Given the description of an element on the screen output the (x, y) to click on. 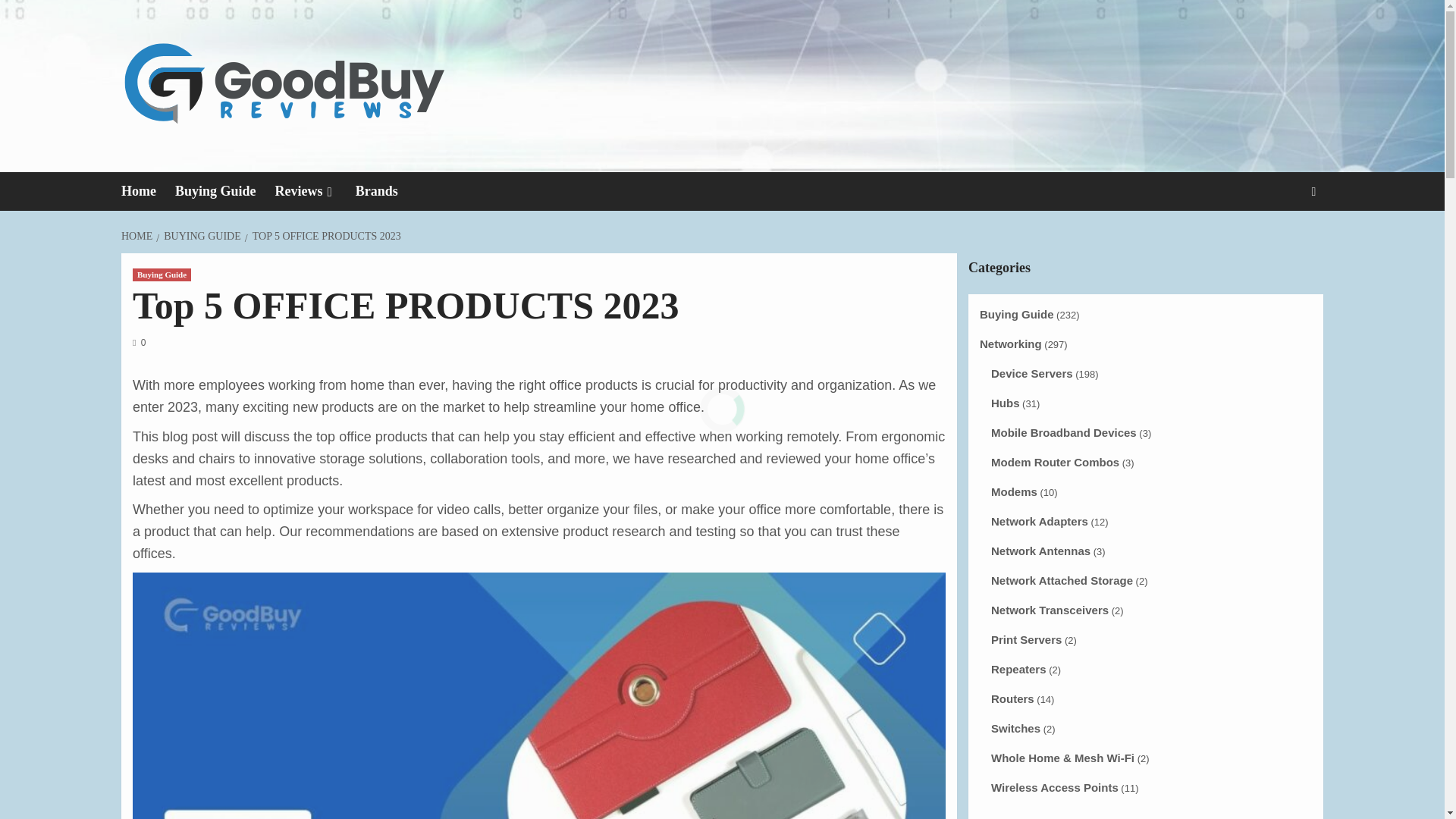
BUYING GUIDE (199, 235)
Brands (385, 190)
HOME (137, 235)
Buying Guide (224, 190)
Search (1278, 238)
0 (138, 342)
Home (147, 190)
Reviews (315, 190)
Buying Guide (161, 274)
TOP 5 OFFICE PRODUCTS 2023 (324, 235)
